Given the description of an element on the screen output the (x, y) to click on. 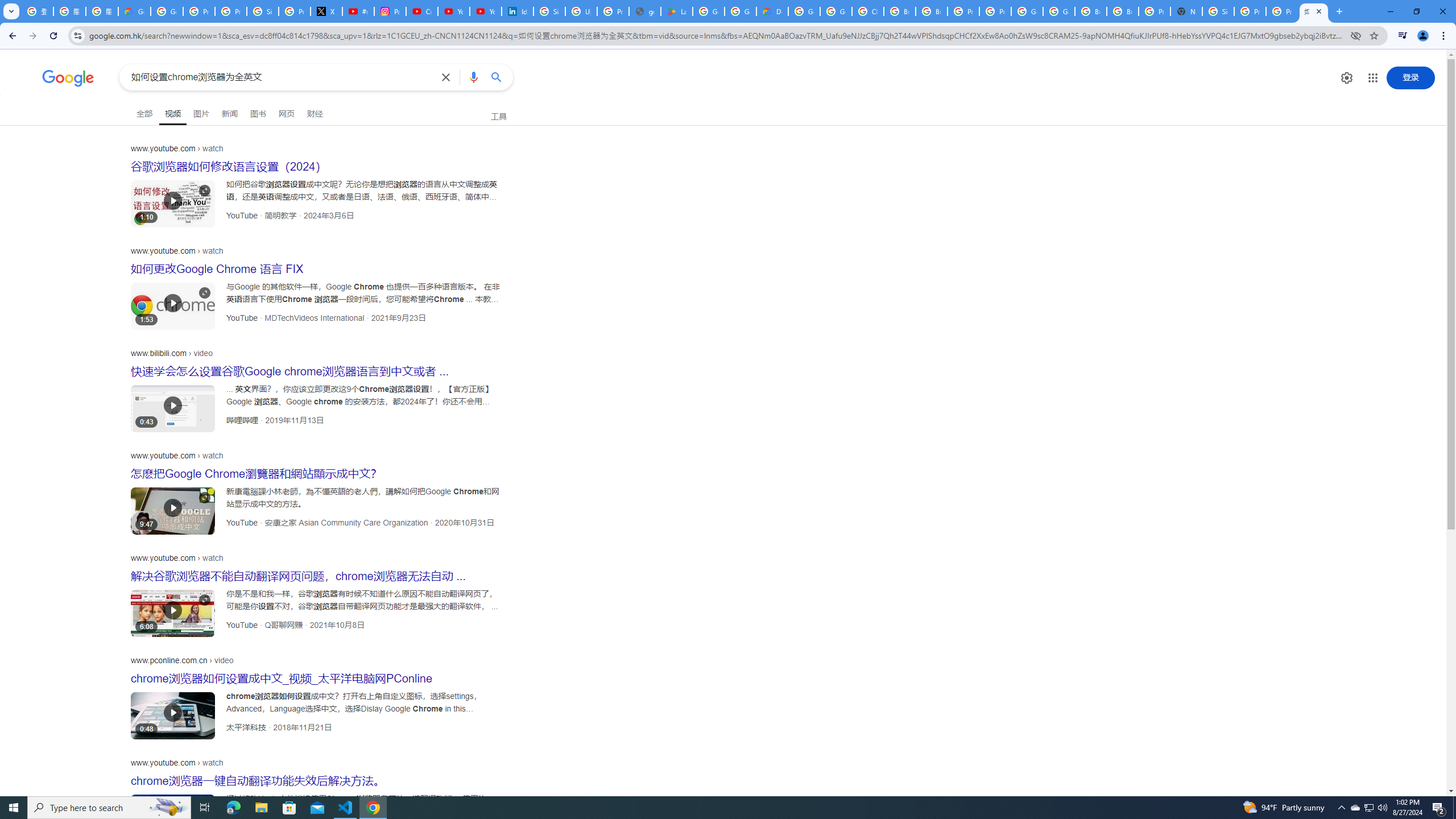
Control your music, videos, and more (1402, 35)
Browse Chrome as a guest - Computer - Google Chrome Help (899, 11)
Google (68, 78)
